Given the description of an element on the screen output the (x, y) to click on. 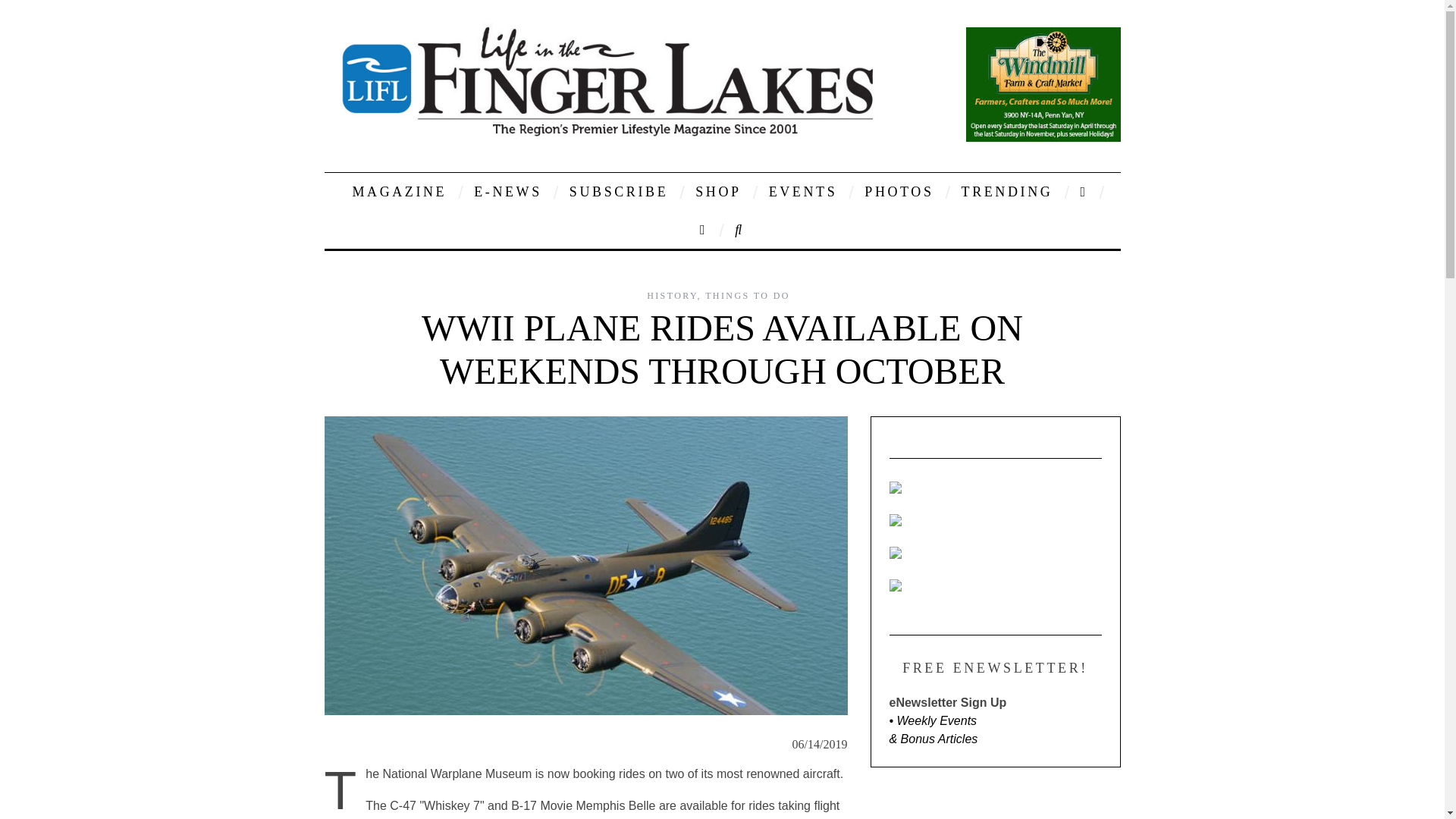
E-NEWS (508, 191)
EVENTS (802, 191)
TRENDING (1007, 191)
MAGAZINE (399, 191)
SHOP (718, 191)
PHOTOS (898, 191)
SUBSCRIBE (618, 191)
